Given the description of an element on the screen output the (x, y) to click on. 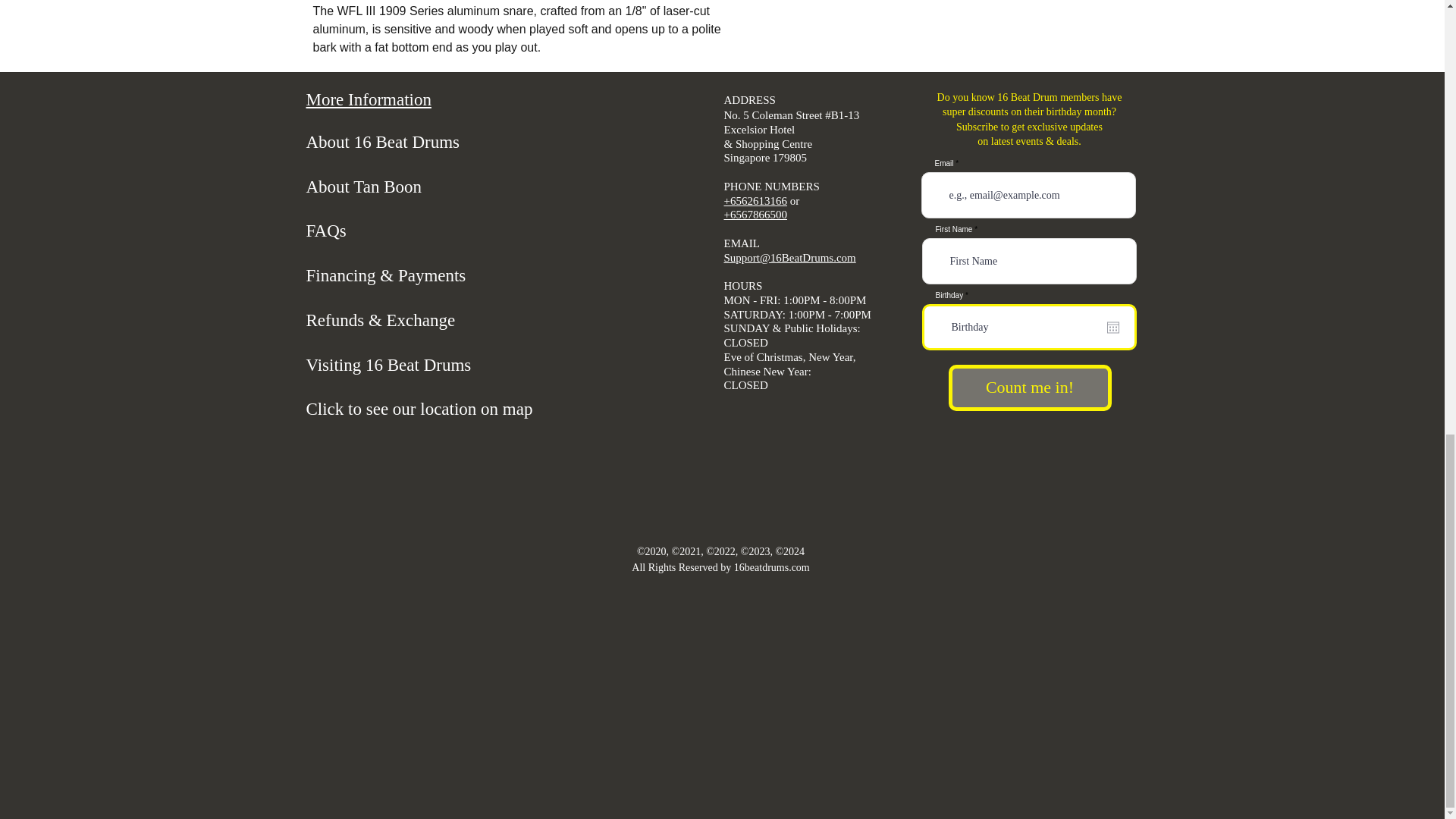
Click to see our location on map (418, 408)
FAQs (325, 230)
Visiting 16 Beat Drums (388, 364)
About 16 Beat Drums (382, 141)
Count me in! (1028, 387)
About Tan Boon (363, 186)
